Given the description of an element on the screen output the (x, y) to click on. 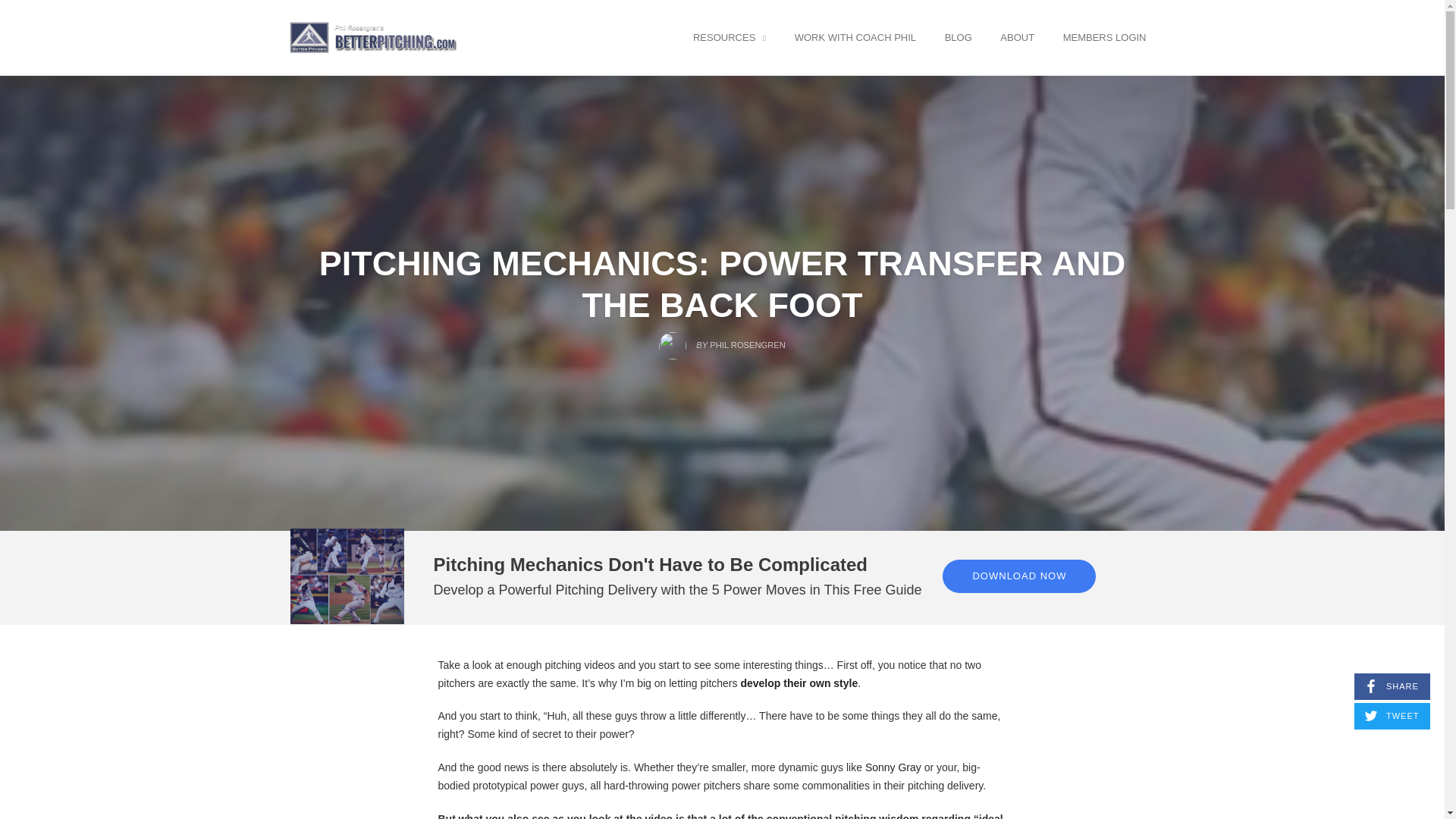
MEMBERS LOGIN (1104, 37)
ABOUT (1016, 37)
WORK WITH COACH PHIL (855, 37)
Sonny Gray (892, 767)
PITCHING MECHANICS: POWER TRANSFER AND THE BACK FOOT (721, 284)
develop their own style (798, 683)
BLOG (957, 37)
DOWNLOAD NOW (1019, 575)
BY PHIL ROSENGREN (722, 340)
BetterPitching.com (373, 37)
